Given the description of an element on the screen output the (x, y) to click on. 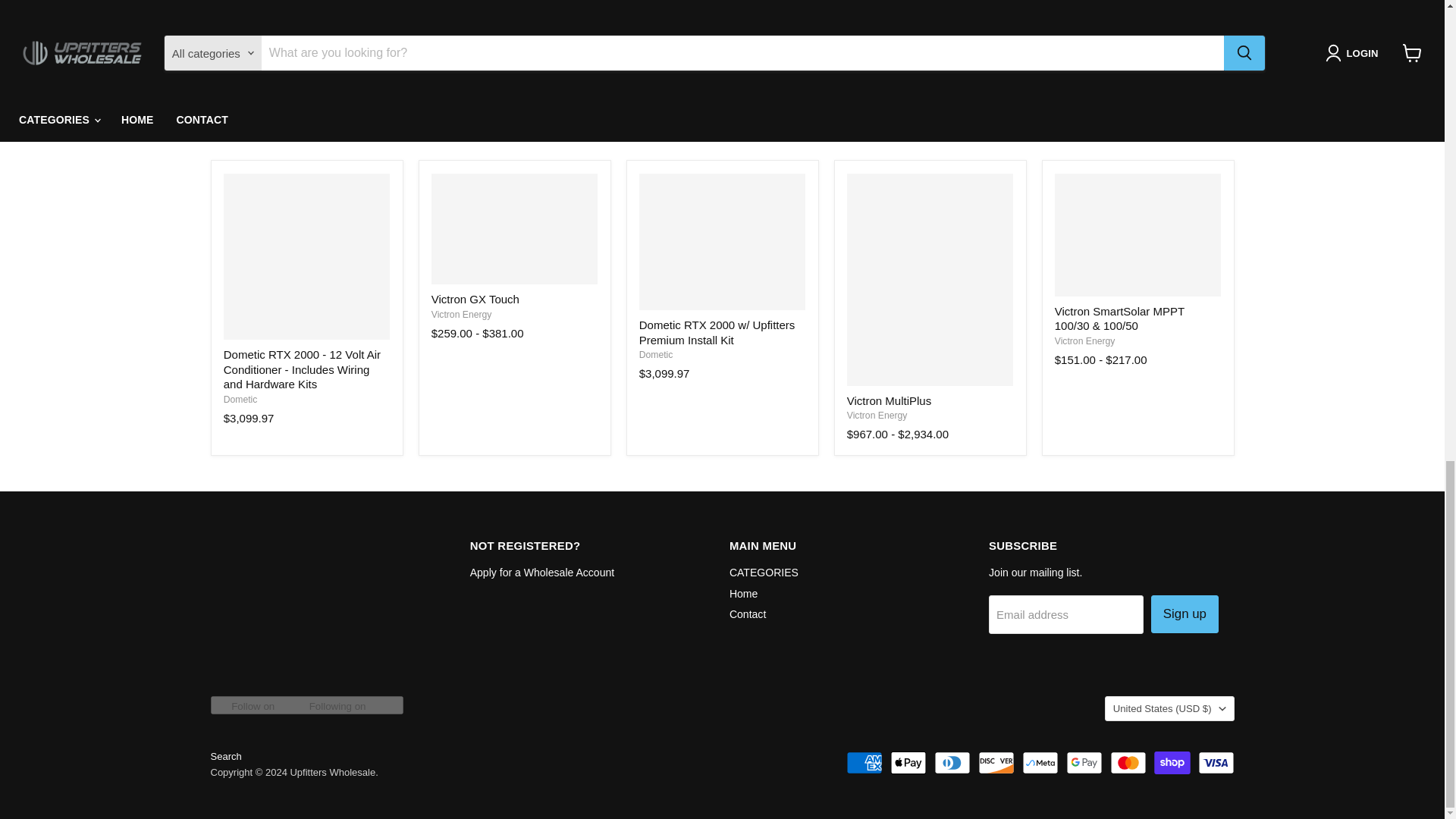
Meta Pay (1040, 762)
Mastercard (1128, 762)
Shop Pay (1172, 762)
Victron Energy (461, 314)
Dometic (240, 398)
Victron Energy (1084, 340)
Dometic (655, 354)
Visa (1216, 762)
Apple Pay (907, 762)
Google Pay (1083, 762)
